Given the description of an element on the screen output the (x, y) to click on. 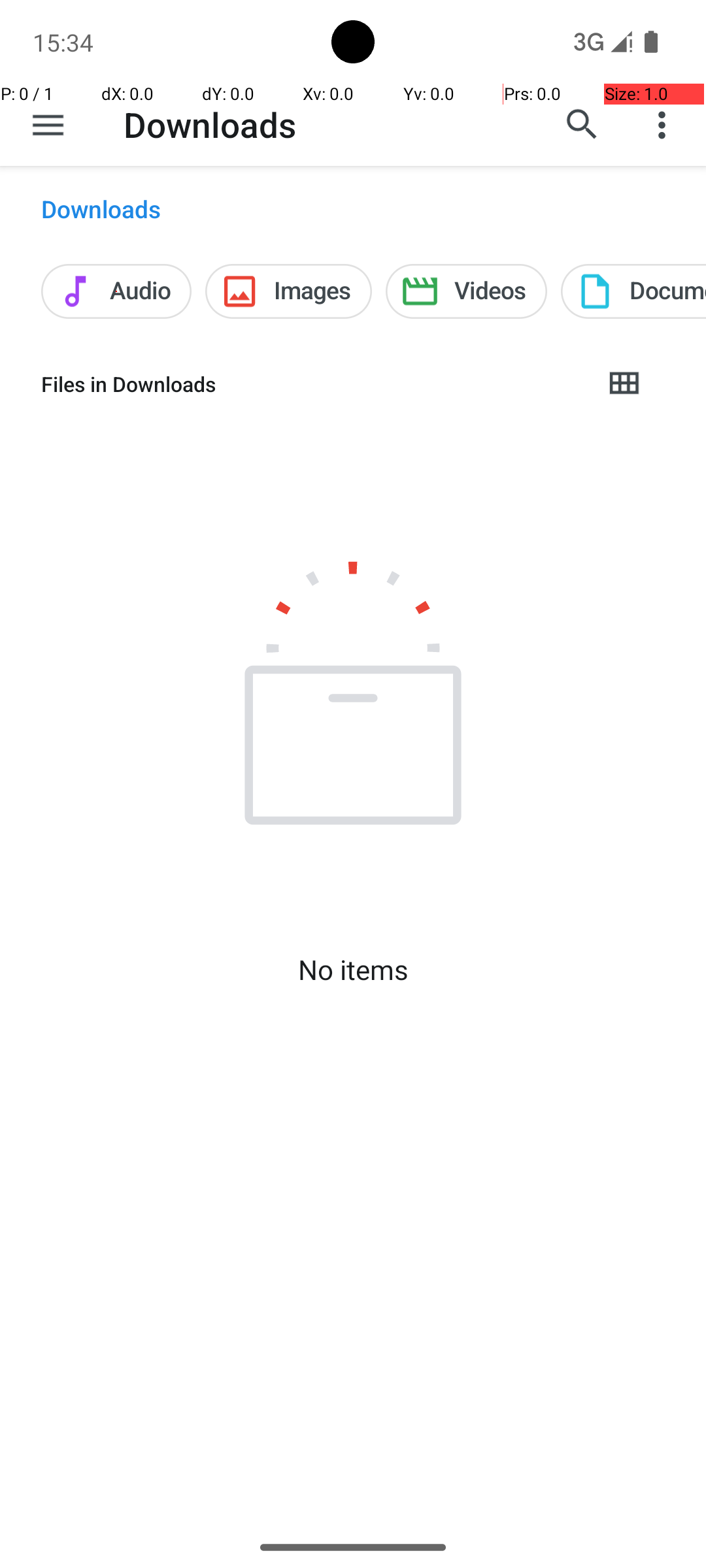
Grid view Element type: android.widget.TextView (622, 384)
